Given the description of an element on the screen output the (x, y) to click on. 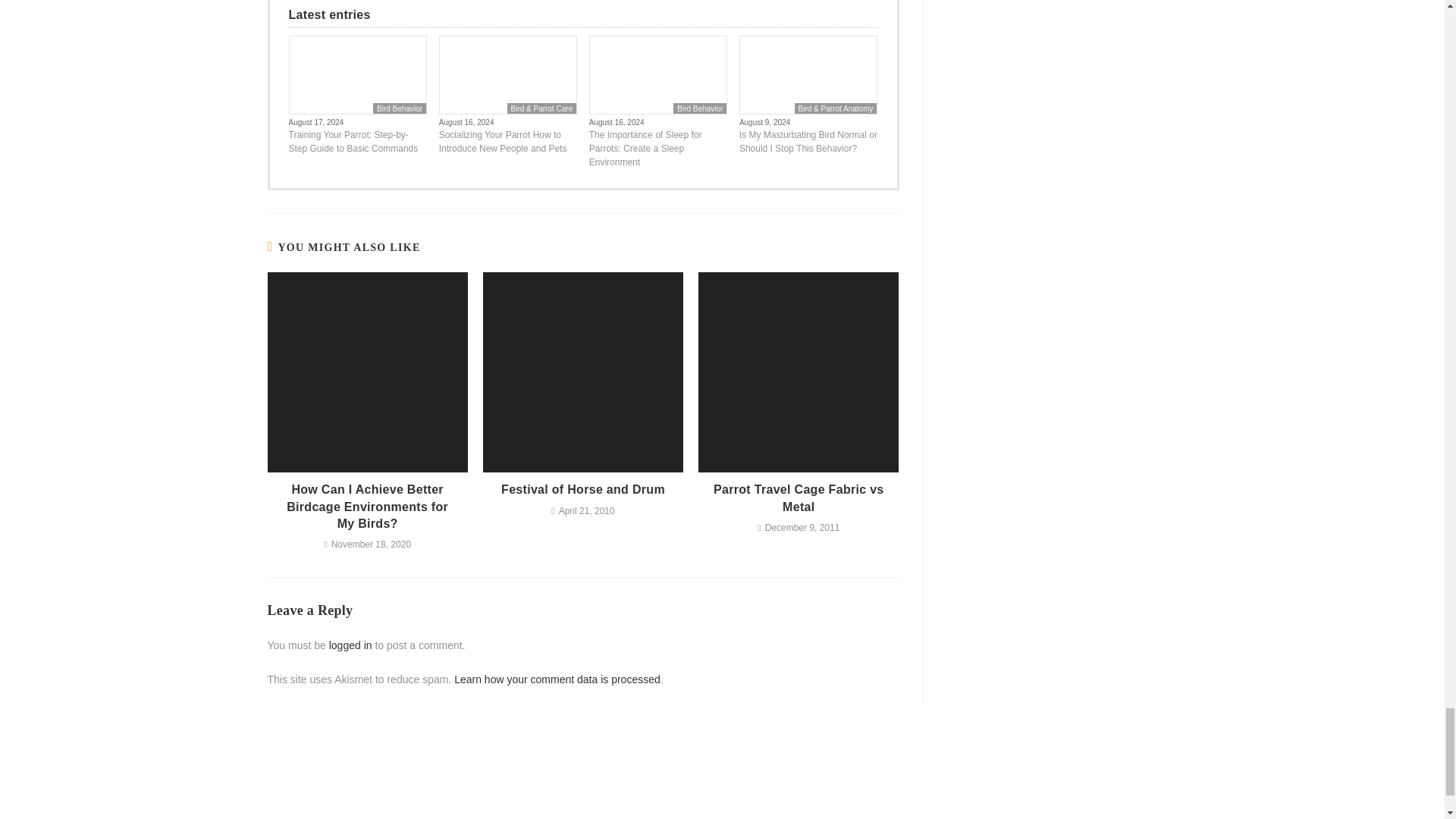
Socializing Your Parrot How to Introduce New People and Pets (508, 141)
How Can I Achieve Better Birdcage Environments for My Birds? (367, 506)
Festival of Horse and Drum (583, 489)
Bird Behavior (399, 108)
Parrot Travel Cage Fabric vs Metal (798, 498)
Training Your Parrot: Step-by-Step Guide to Basic Commands (357, 141)
